Given the description of an element on the screen output the (x, y) to click on. 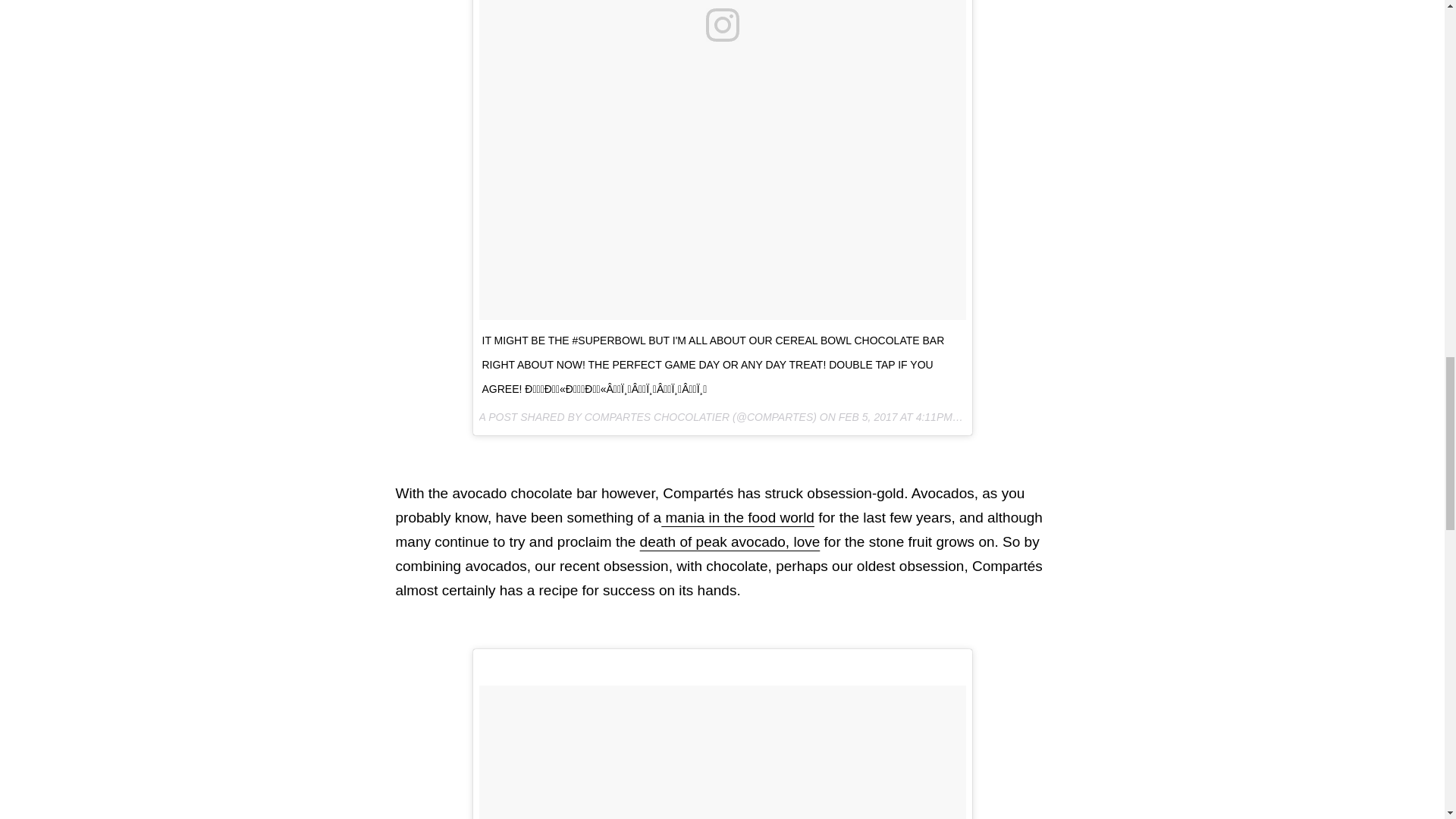
mania in the food world (737, 517)
death of peak avocado, love (730, 541)
